Given the description of an element on the screen output the (x, y) to click on. 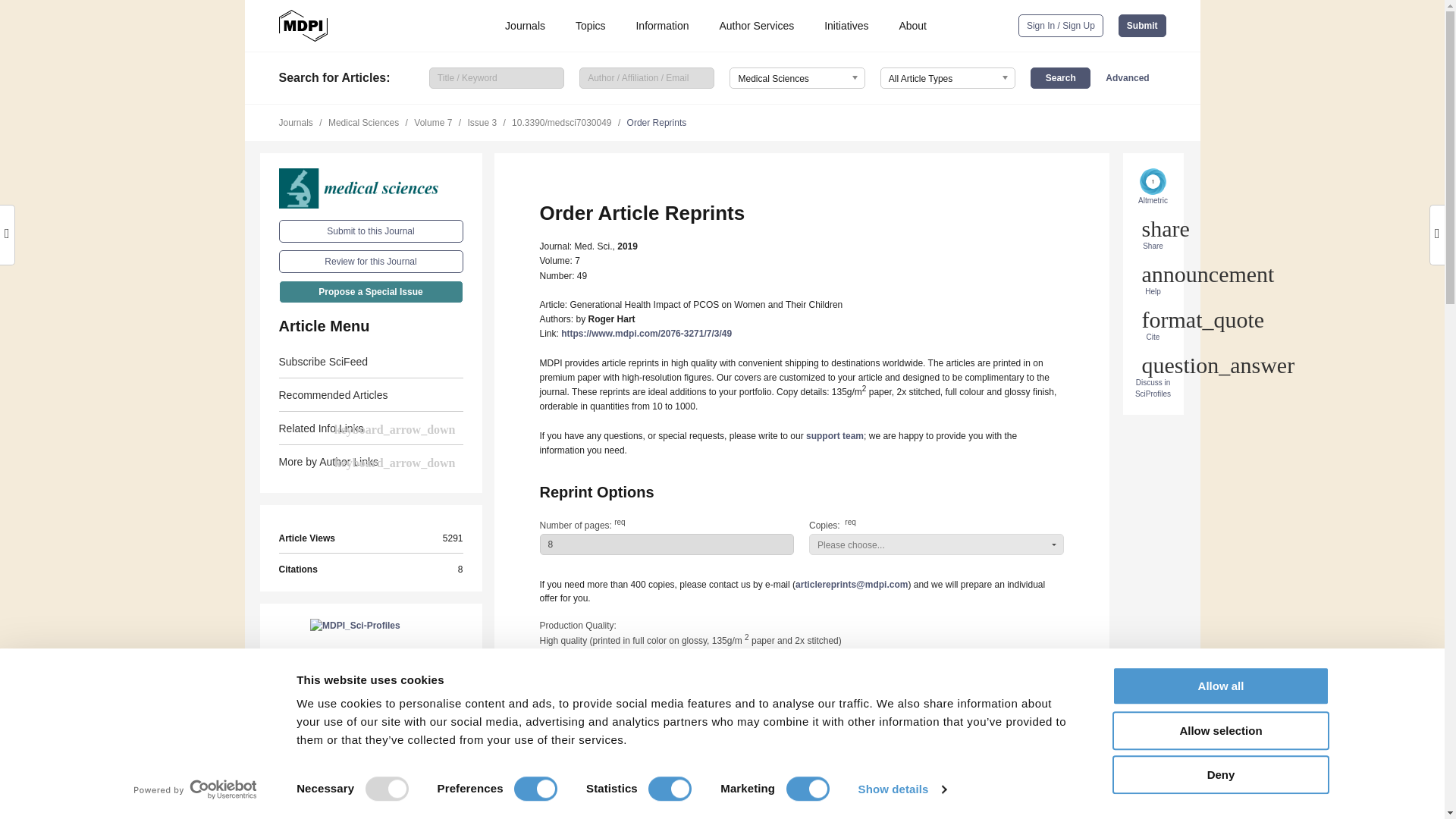
8 (667, 544)
USD (629, 722)
EUR (585, 722)
GBP (714, 722)
CAD (671, 722)
CHF (545, 722)
Search (1060, 77)
Show details (900, 789)
Search (1060, 77)
JPY (757, 722)
